Given the description of an element on the screen output the (x, y) to click on. 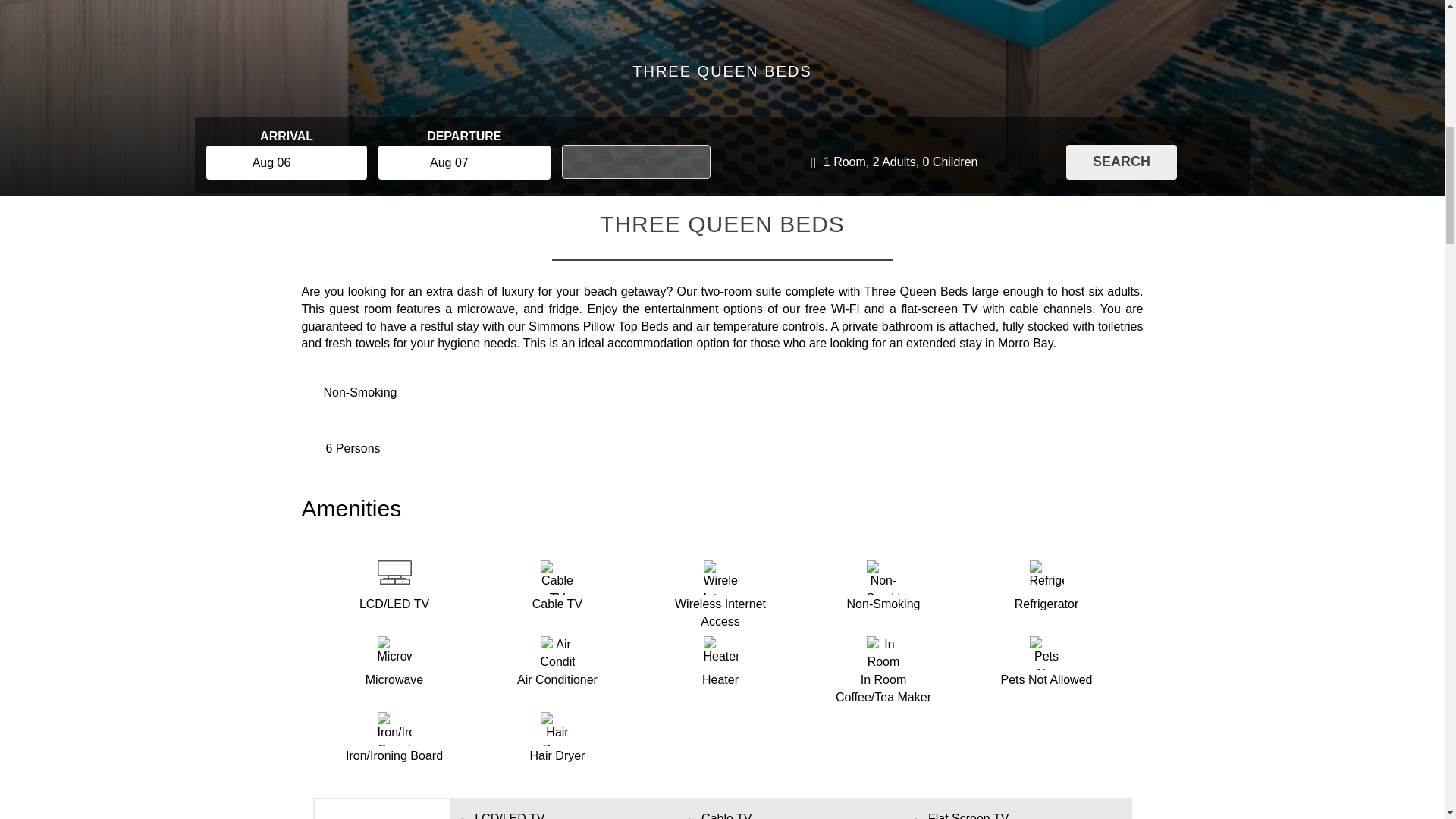
1 Room, 2 Adults, 0 Children (893, 162)
